Given the description of an element on the screen output the (x, y) to click on. 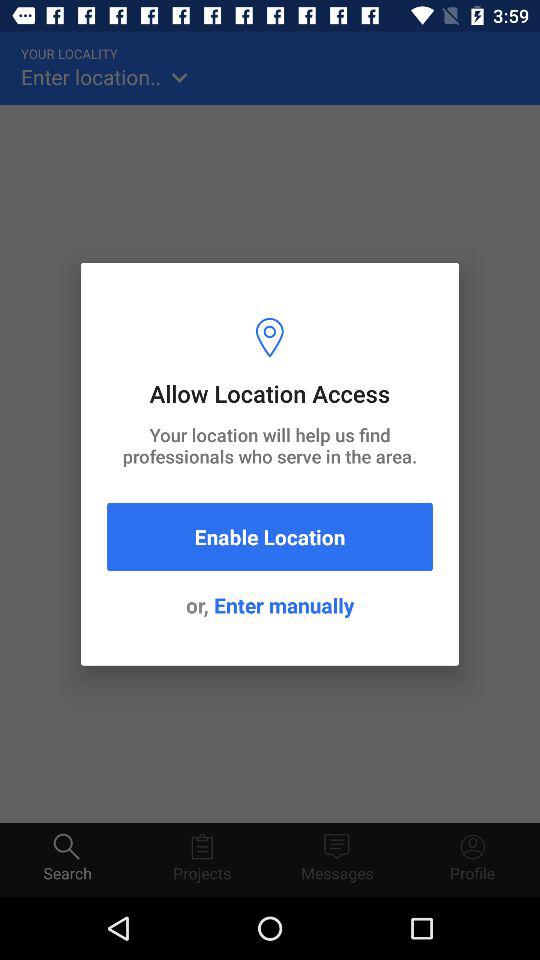
select enable location (269, 536)
